Given the description of an element on the screen output the (x, y) to click on. 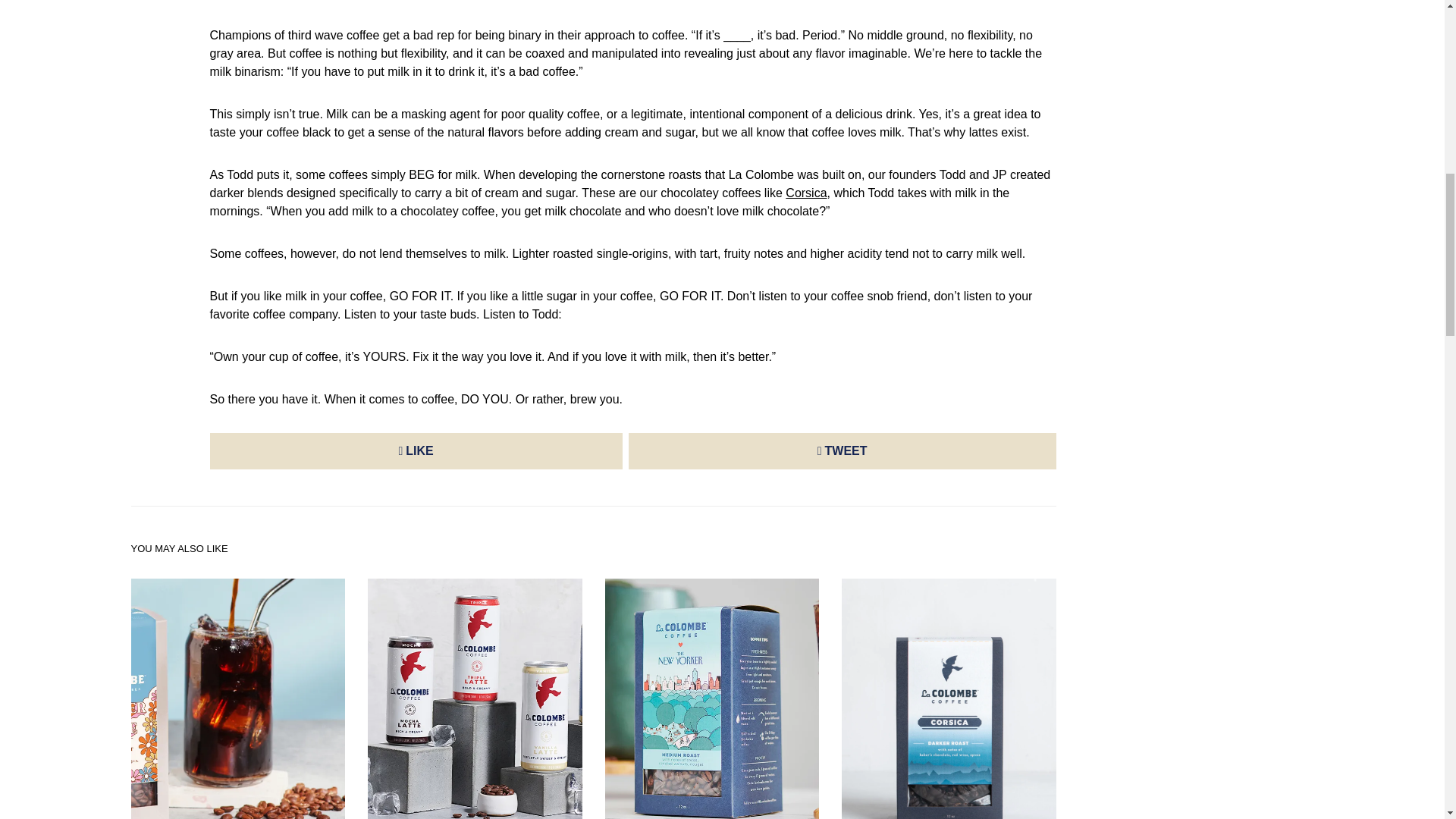
TWEET (842, 451)
Corsica (806, 192)
LIKE (415, 451)
